Given the description of an element on the screen output the (x, y) to click on. 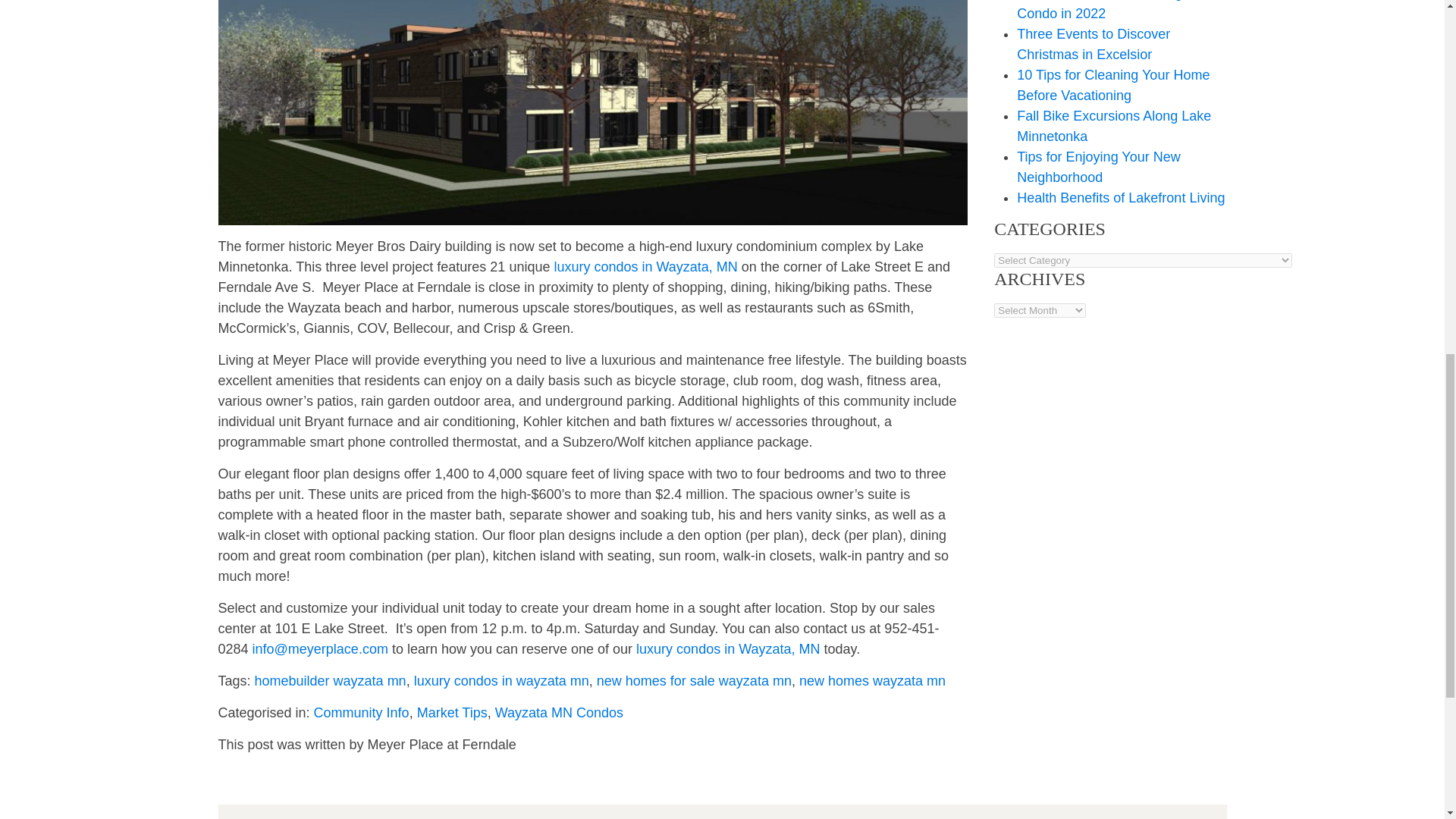
homebuilder wayzata mn (330, 680)
Wayzata MN Condos (559, 712)
Community Info (361, 712)
luxury condos in wayzata mn (501, 680)
Market Tips (451, 712)
new homes wayzata mn (871, 680)
luxury condos in Wayzata, MN (644, 266)
luxury condos in Wayzata, MN (727, 648)
new homes for sale wayzata mn (694, 680)
